Given the description of an element on the screen output the (x, y) to click on. 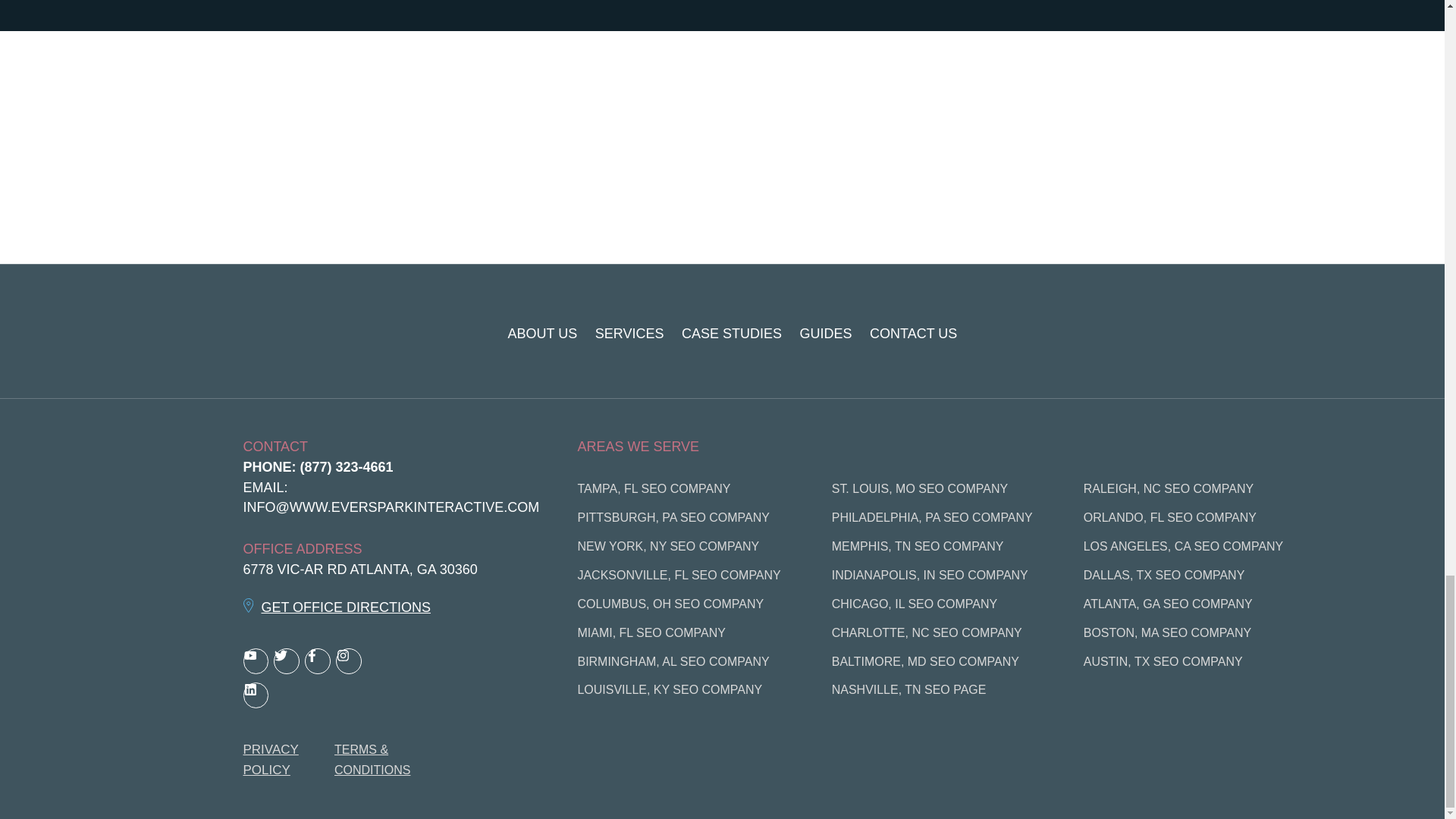
40d6a4baa17461064e2ad84867d35804 (1153, 333)
logo2 (299, 333)
